Given the description of an element on the screen output the (x, y) to click on. 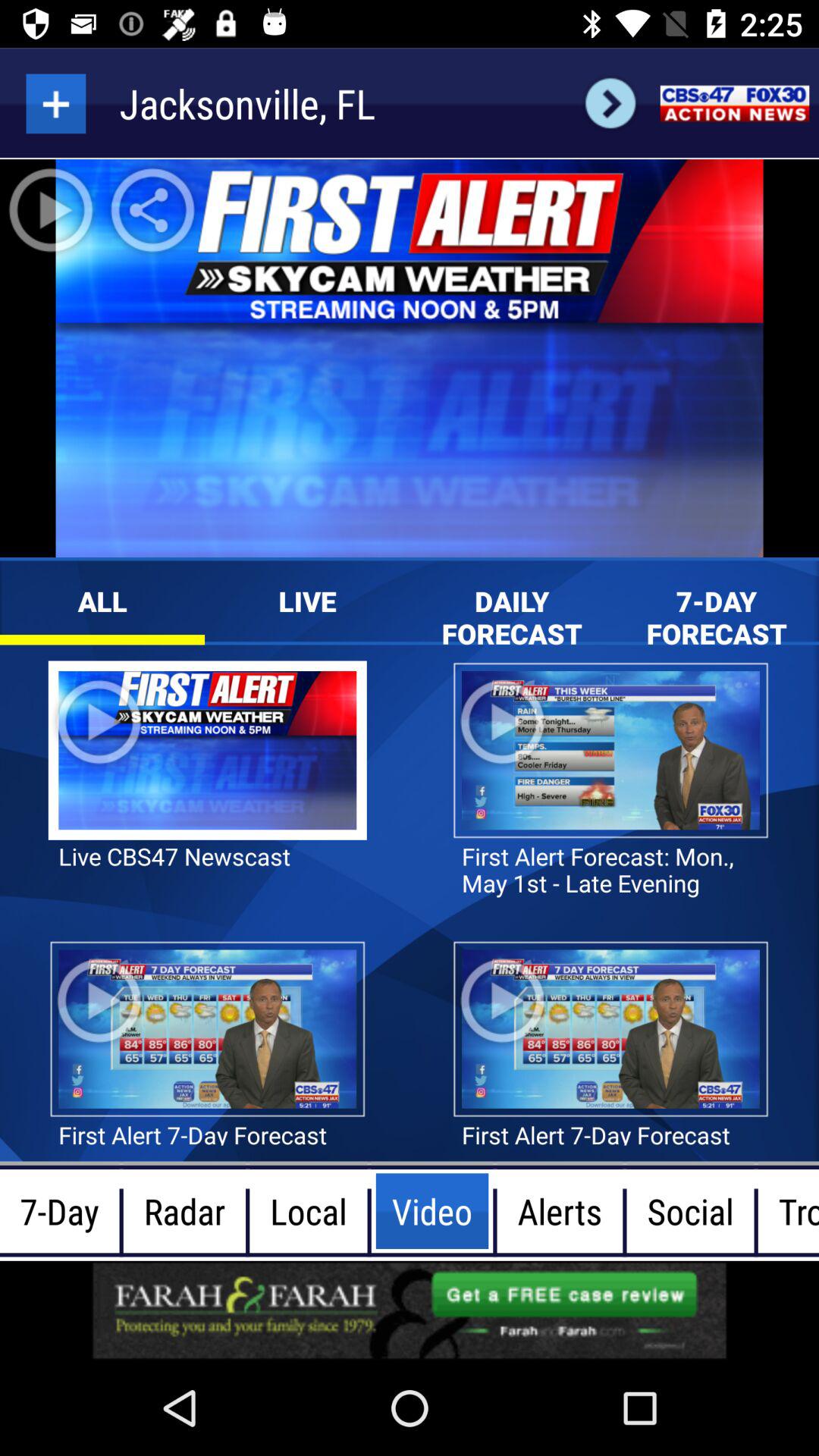
go to advertisement website (409, 1310)
